Given the description of an element on the screen output the (x, y) to click on. 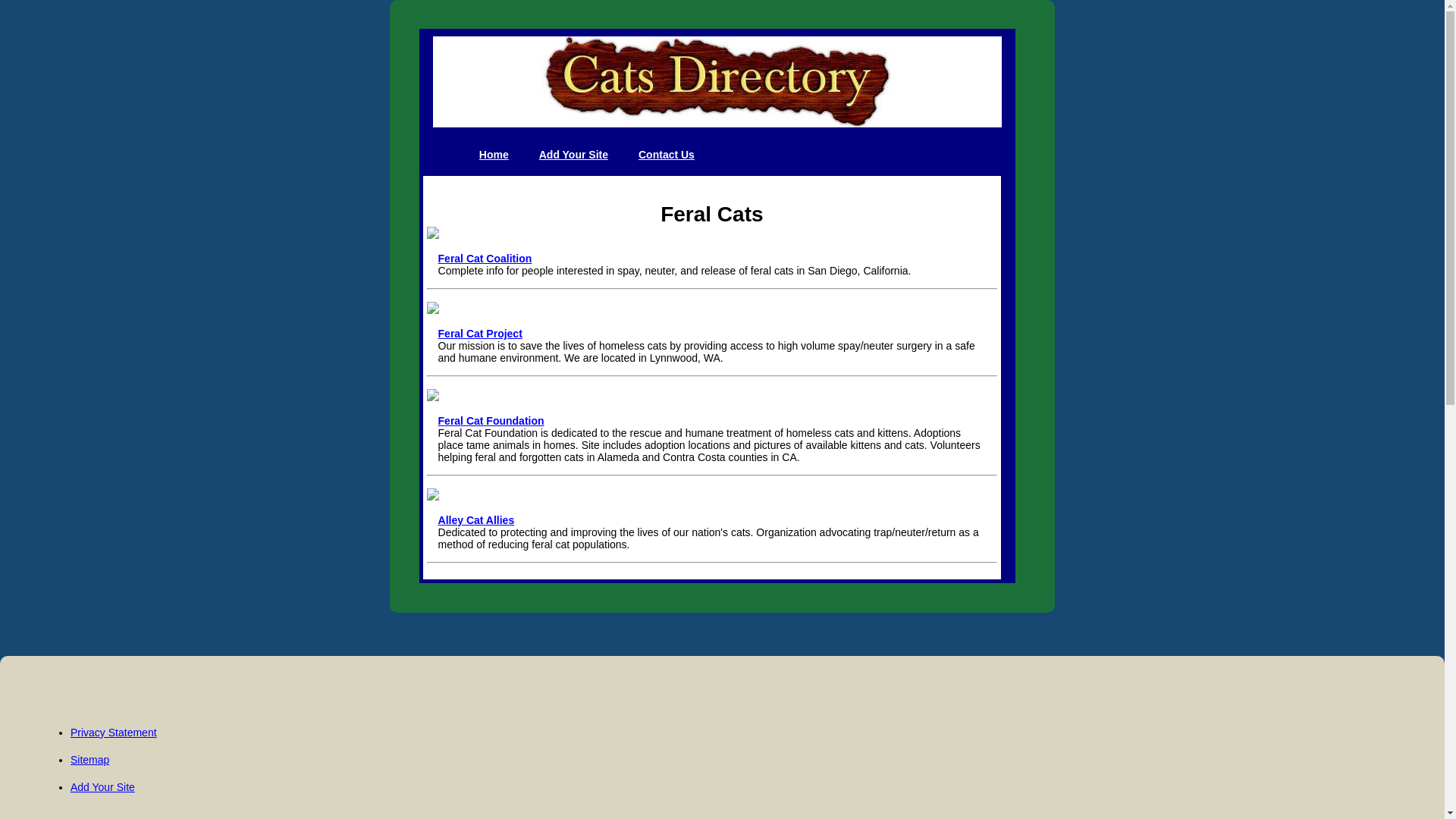
Add Your Site (573, 154)
Feral Cat Coalition (485, 258)
Home (494, 154)
Privacy Statement (113, 732)
Feral Cat Foundation (491, 420)
Contact Us (666, 154)
Add Your Site (102, 787)
Sitemap (89, 759)
Alley Cat Allies (476, 520)
Feral Cat Project (480, 333)
